Given the description of an element on the screen output the (x, y) to click on. 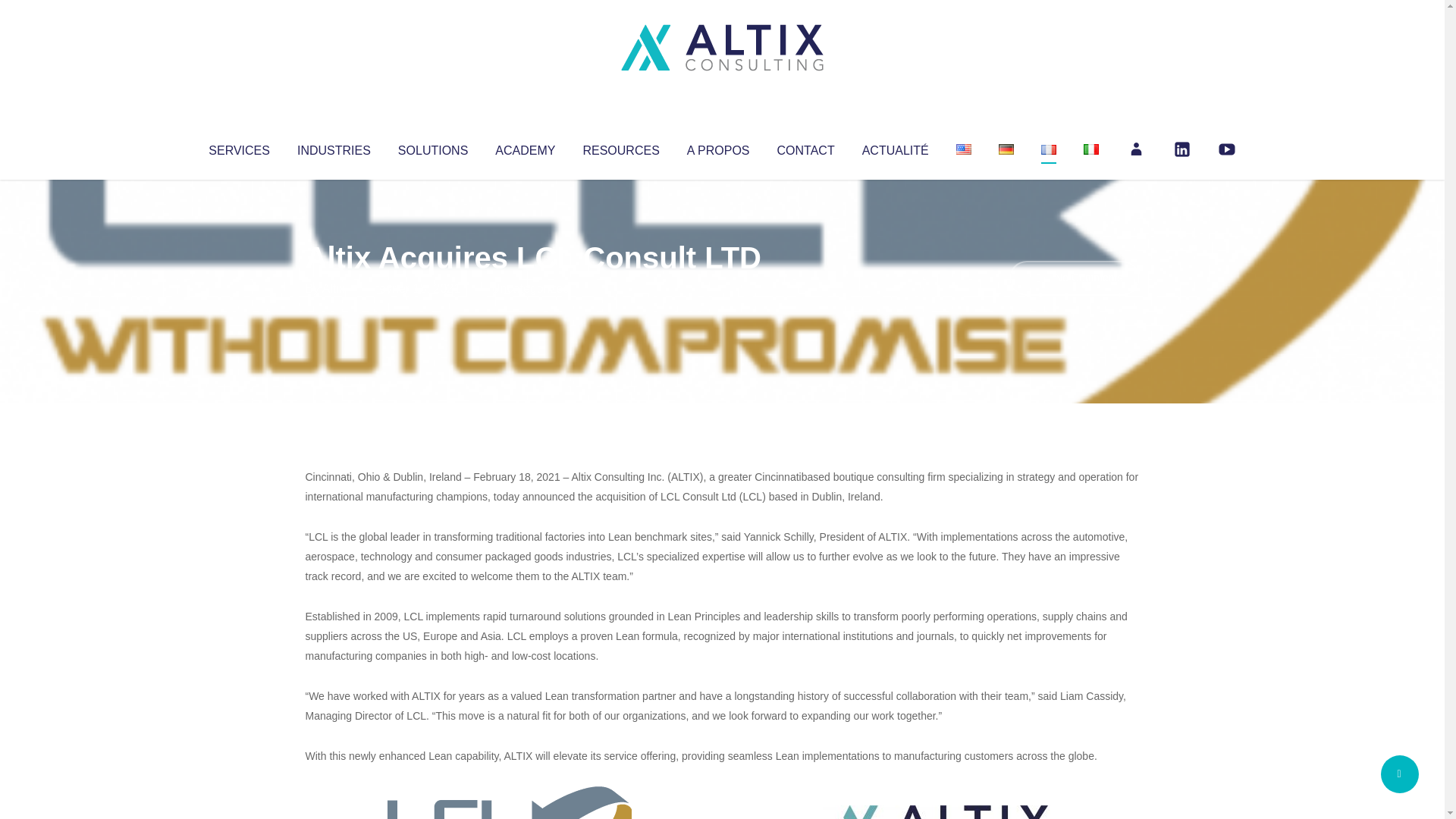
A PROPOS (718, 146)
Uncategorized (530, 287)
No Comments (1073, 278)
Articles par Altix (333, 287)
RESOURCES (620, 146)
INDUSTRIES (334, 146)
SERVICES (238, 146)
SOLUTIONS (432, 146)
ACADEMY (524, 146)
Altix (333, 287)
